Given the description of an element on the screen output the (x, y) to click on. 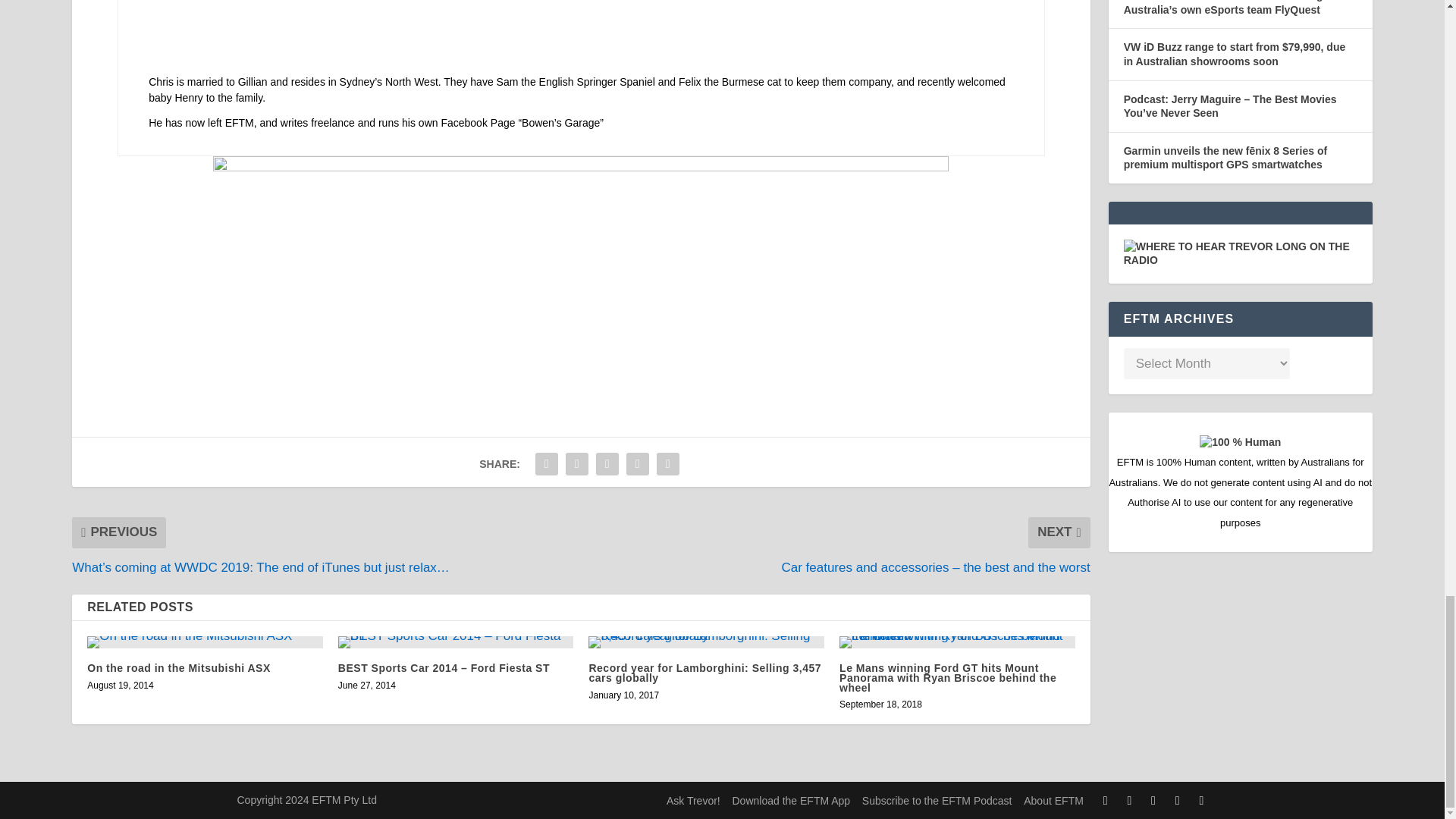
On the road in the Mitsubishi ASX (205, 642)
Record year for Lamborghini: Selling 3,457 cars globally (706, 642)
